Given the description of an element on the screen output the (x, y) to click on. 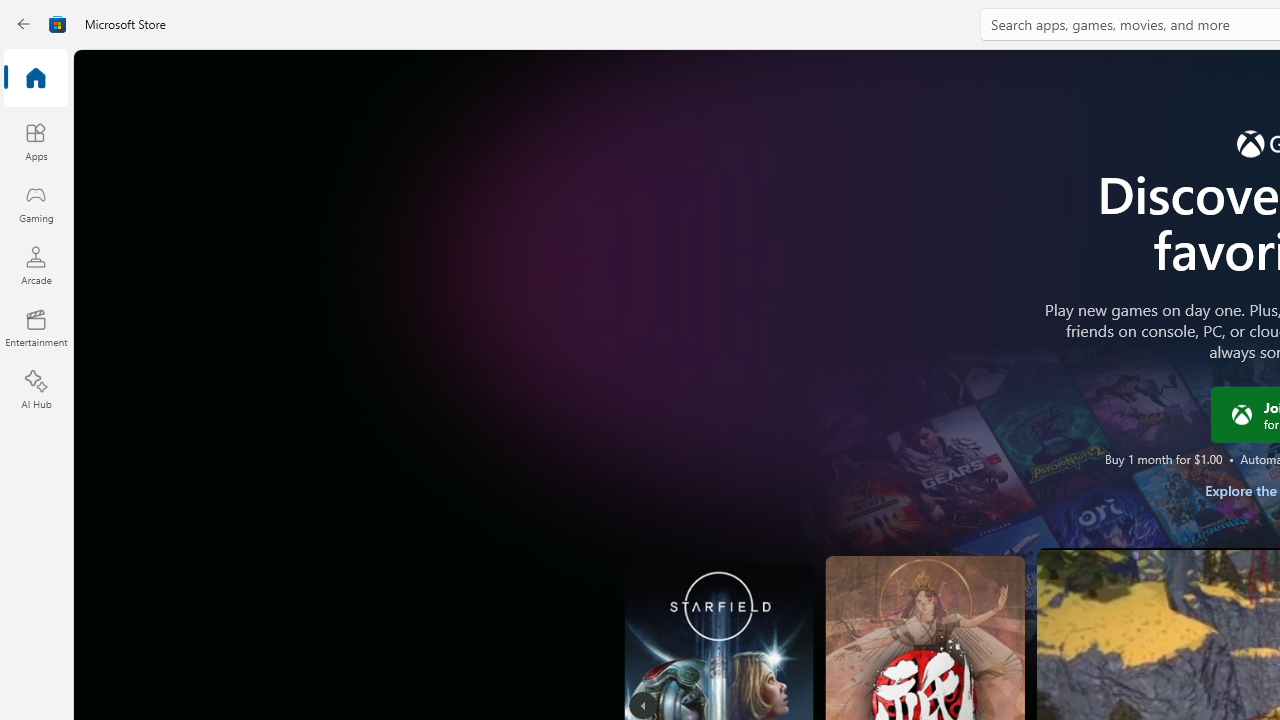
Back (24, 24)
